Given the description of an element on the screen output the (x, y) to click on. 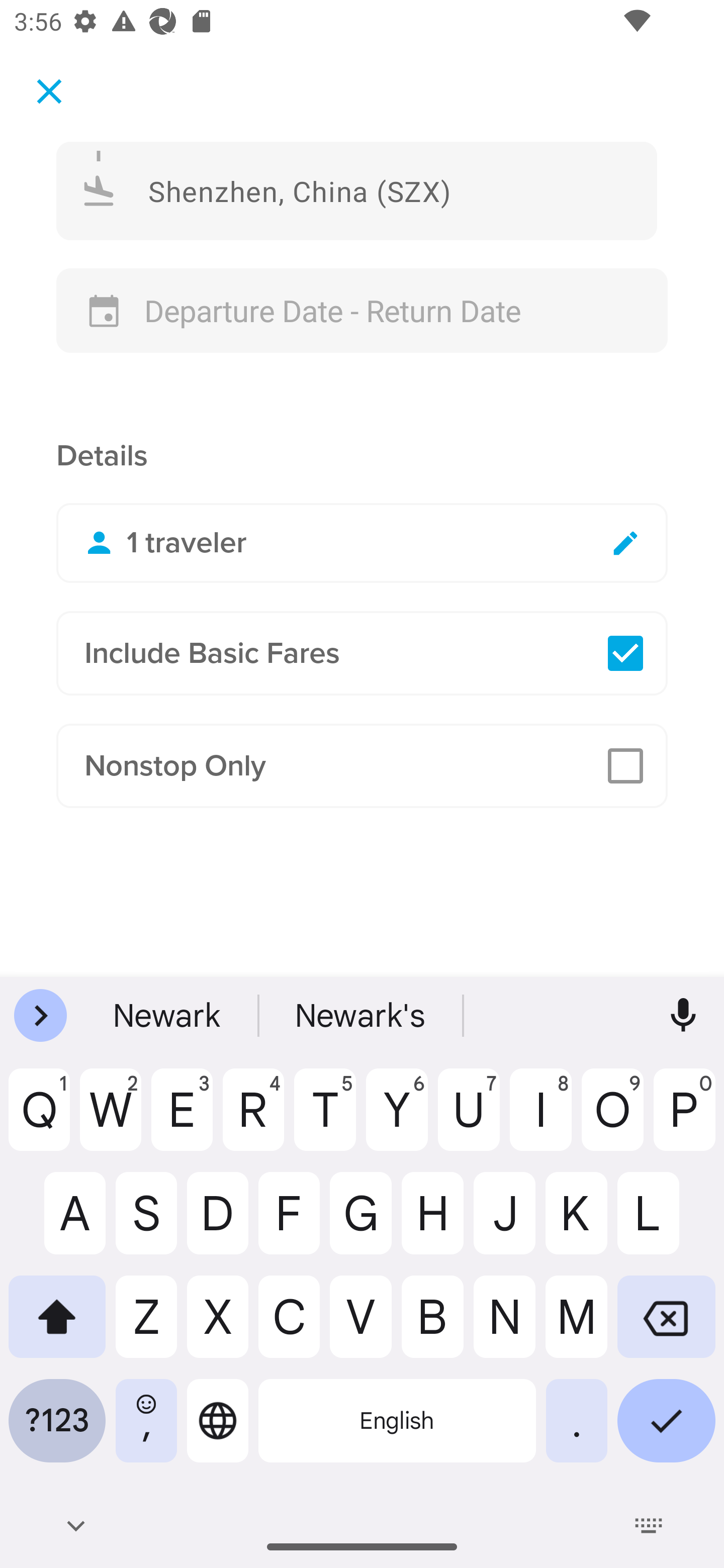
Cancel (49, 90)
Shenzhen, China (SZX) (356, 190)
Departure Date - Return Date (361, 310)
1 traveler Edit Travelers (361, 542)
Include Basic Fares (361, 653)
Nonstop Only (361, 765)
